Given the description of an element on the screen output the (x, y) to click on. 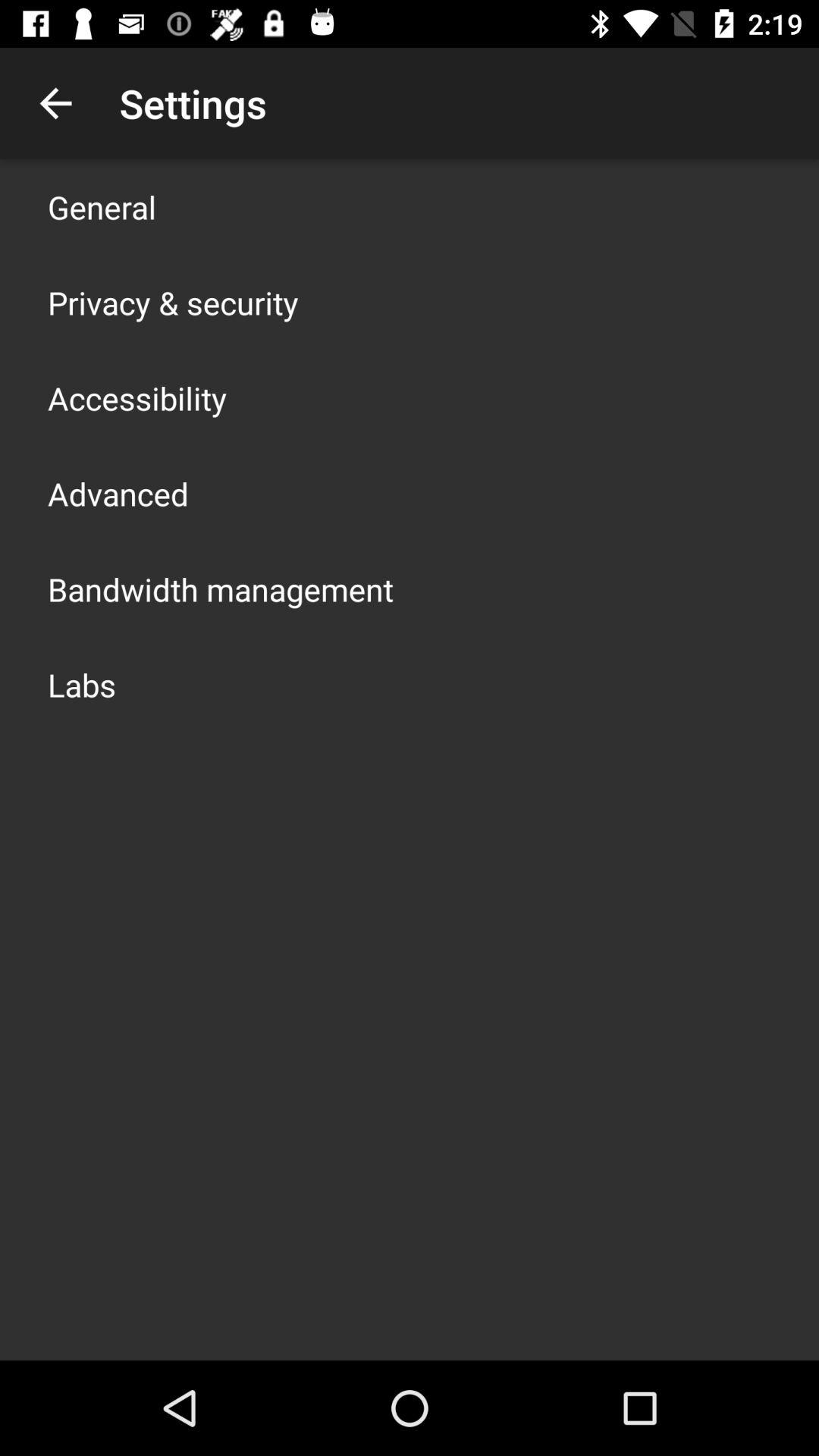
turn on the labs icon (81, 684)
